Given the description of an element on the screen output the (x, y) to click on. 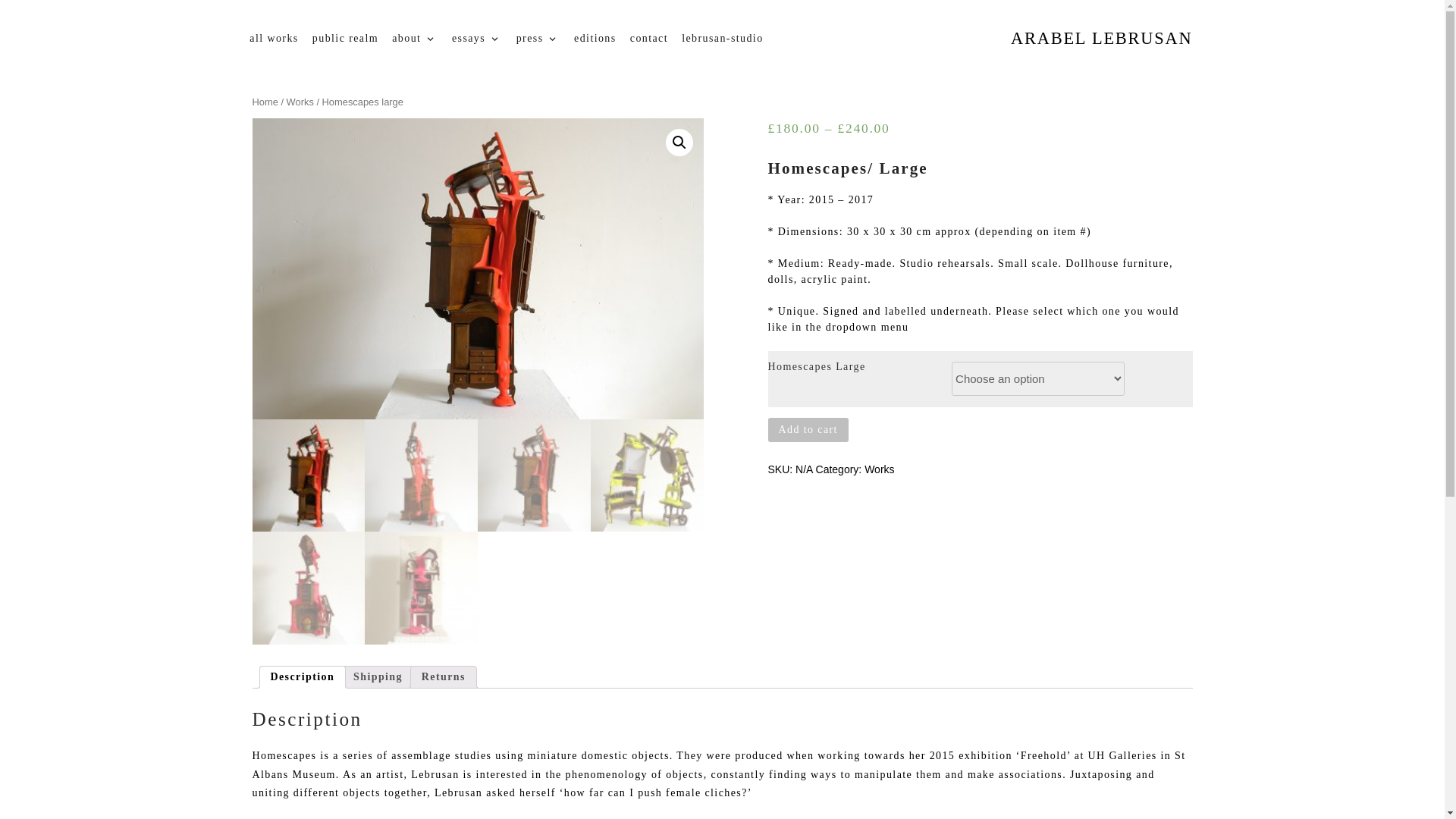
public realm (345, 39)
editions (595, 39)
Works (878, 469)
ARABEL LEBRUSAN (1101, 37)
Shipping (378, 676)
about (415, 39)
Works (300, 101)
all works (274, 39)
Home (264, 101)
lebrusan-studio (722, 39)
press (538, 39)
essays (477, 39)
Add to cart (807, 429)
contact (649, 39)
